Given the description of an element on the screen output the (x, y) to click on. 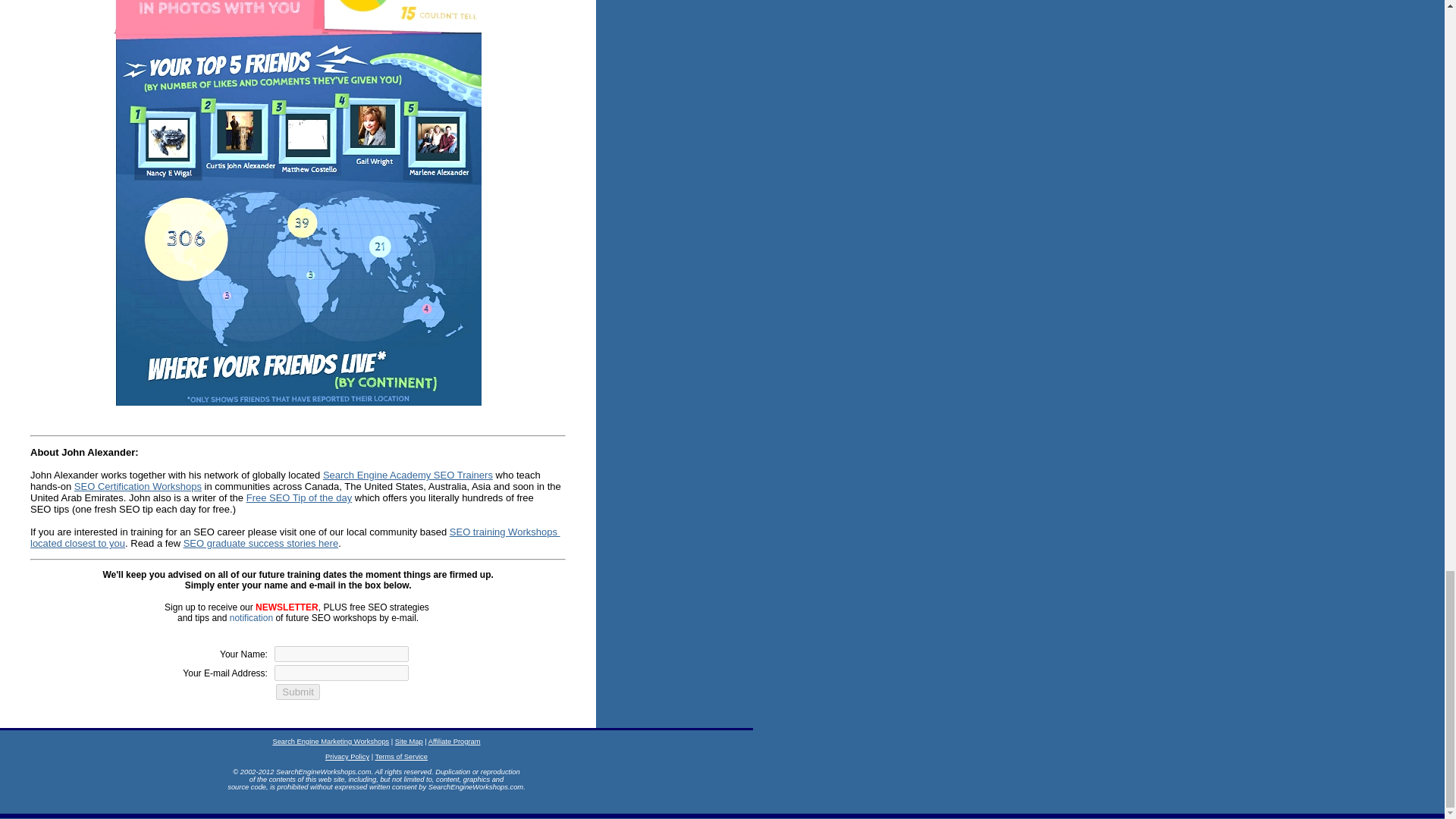
Free SEO Tip of the day (299, 497)
Site Map (408, 741)
Submit (297, 691)
Terms of Service (401, 756)
Search Engine Academy SEO Trainers (295, 537)
Search Engine Marketing Workshops (408, 474)
Privacy Policy (330, 741)
Affiliate Program (346, 756)
notification (454, 741)
SEO graduate success stories here (251, 617)
SEO Certification Workshops (261, 542)
